Given the description of an element on the screen output the (x, y) to click on. 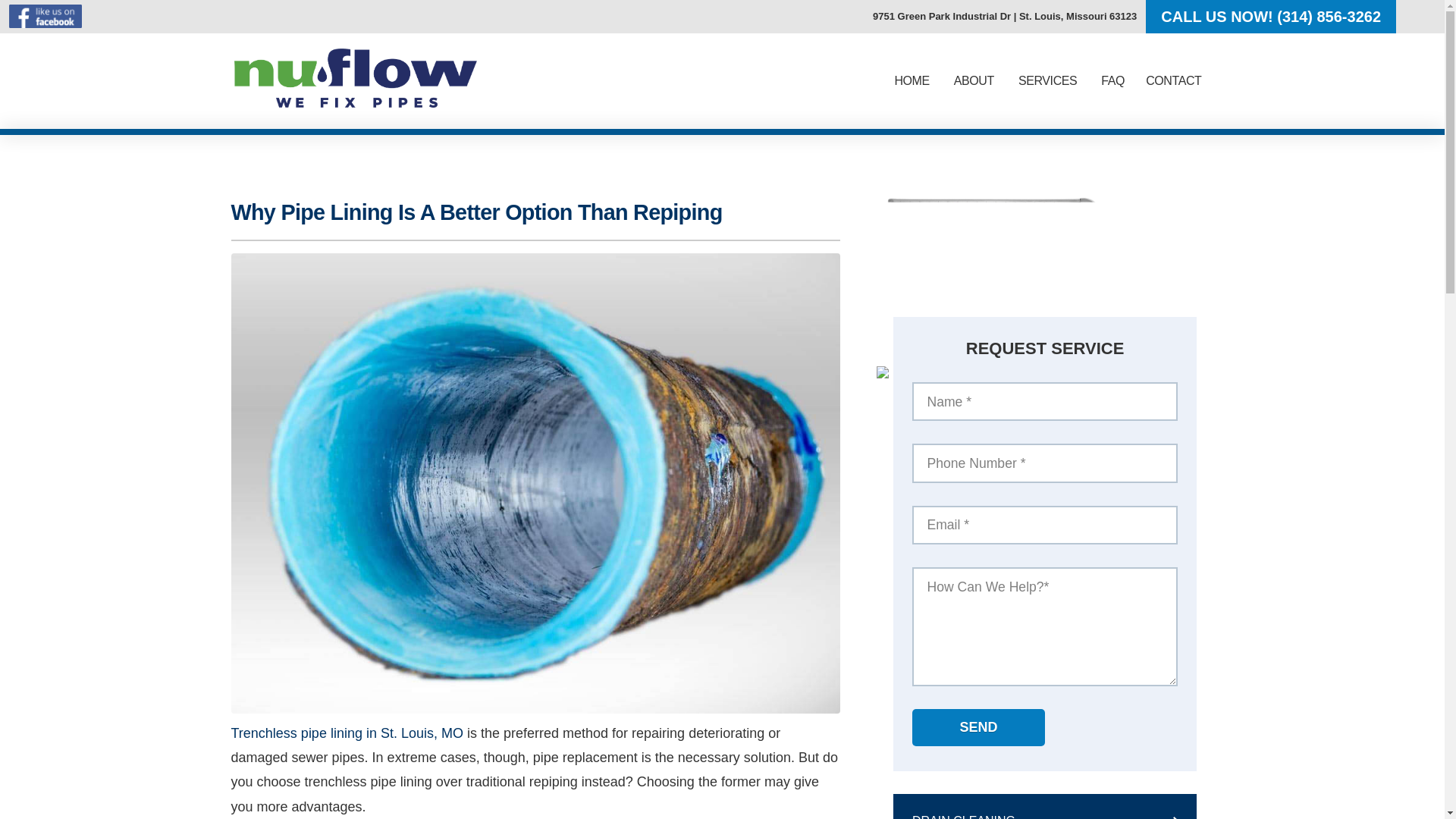
ABOUT (974, 81)
Go to home page (354, 102)
HOME (911, 81)
Send (978, 727)
Nu Flow St. Louis (44, 15)
Nu Flow St. Louis (354, 77)
